Given the description of an element on the screen output the (x, y) to click on. 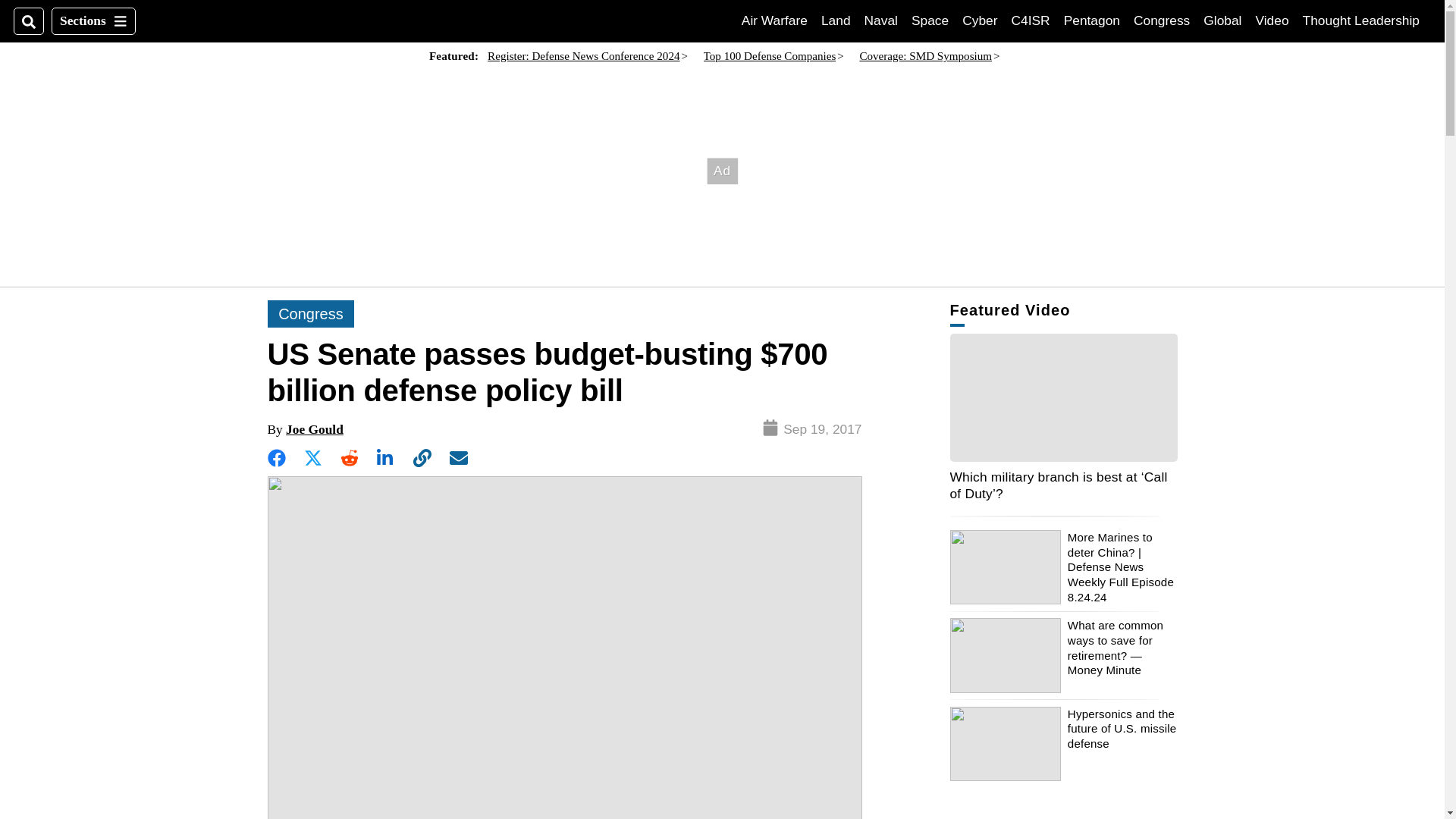
Global (1222, 20)
Sections (92, 21)
Pentagon (1091, 20)
Thought Leadership (1361, 20)
Congress (1161, 20)
Air Warfare (774, 20)
Space (930, 20)
Naval (1030, 20)
